Given the description of an element on the screen output the (x, y) to click on. 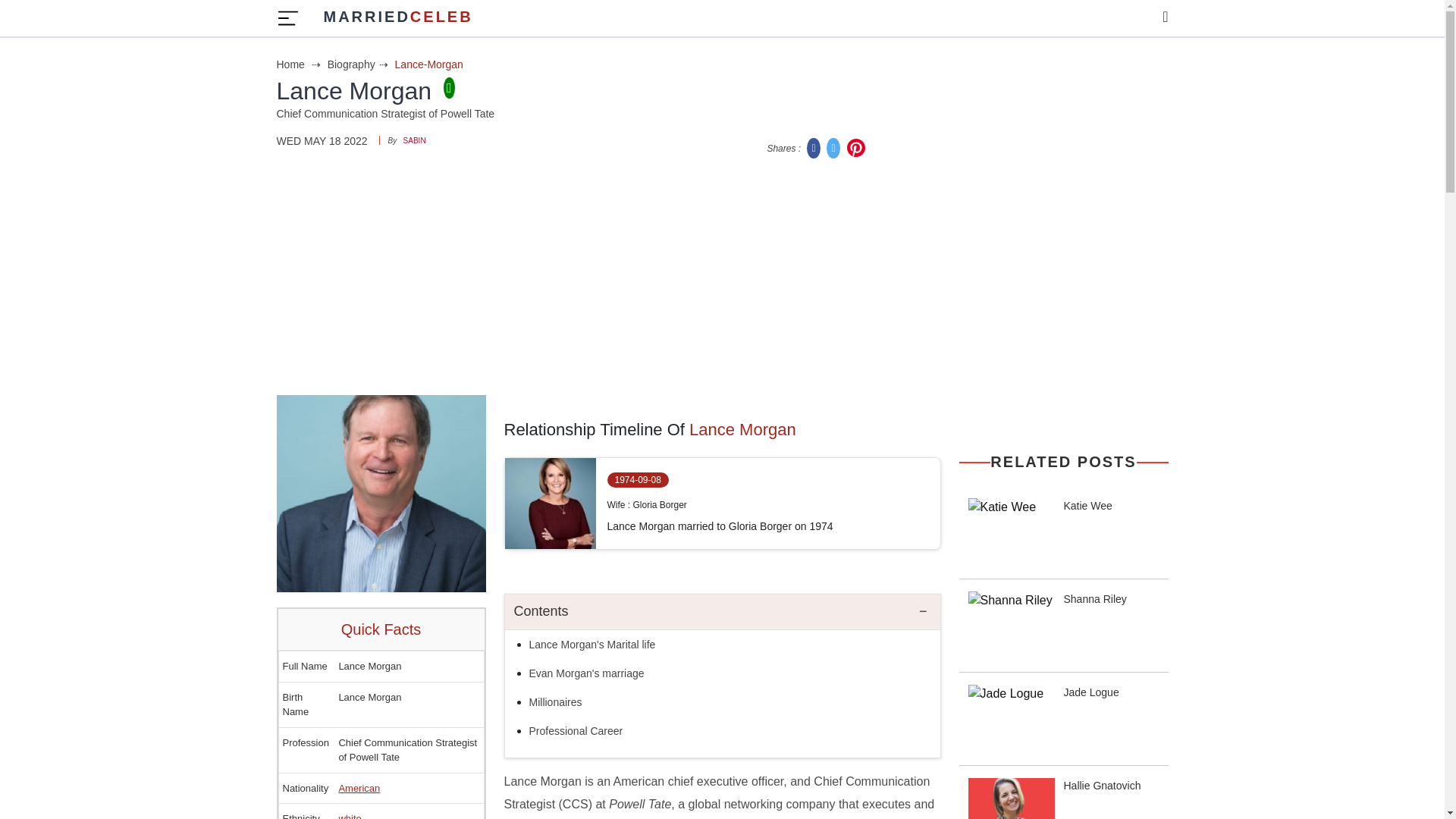
Lance Morgan's Marital life (592, 644)
Twitter (835, 147)
Professional Career (576, 730)
white (349, 816)
Facebook (814, 147)
Contents (722, 611)
Home (397, 18)
Millionaires (299, 64)
Evan Morgan's marriage (555, 702)
Biography (587, 673)
SABIN (359, 64)
American (414, 140)
Pinterest (358, 787)
